Given the description of an element on the screen output the (x, y) to click on. 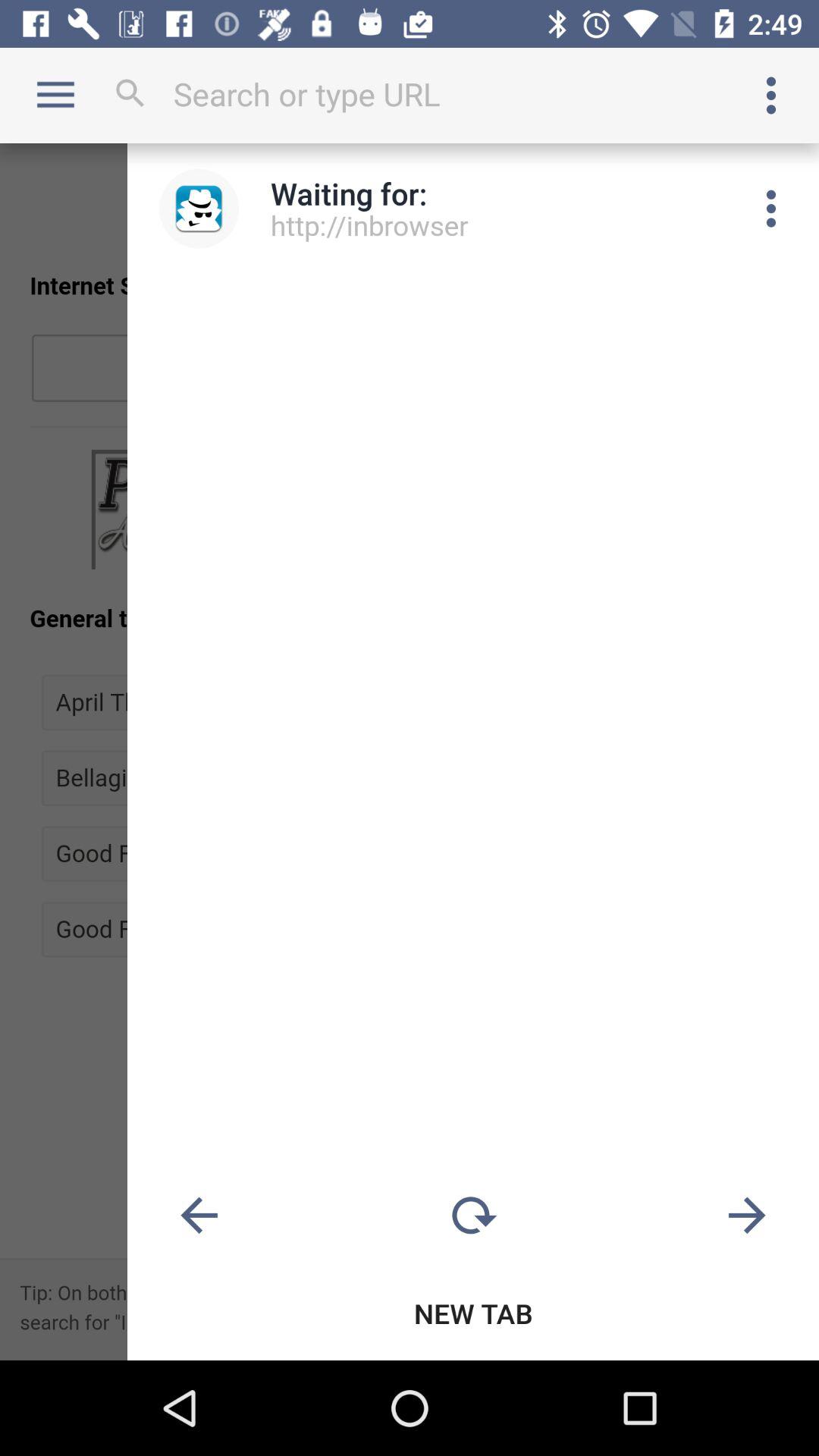
choose the new tab icon (473, 1313)
